Given the description of an element on the screen output the (x, y) to click on. 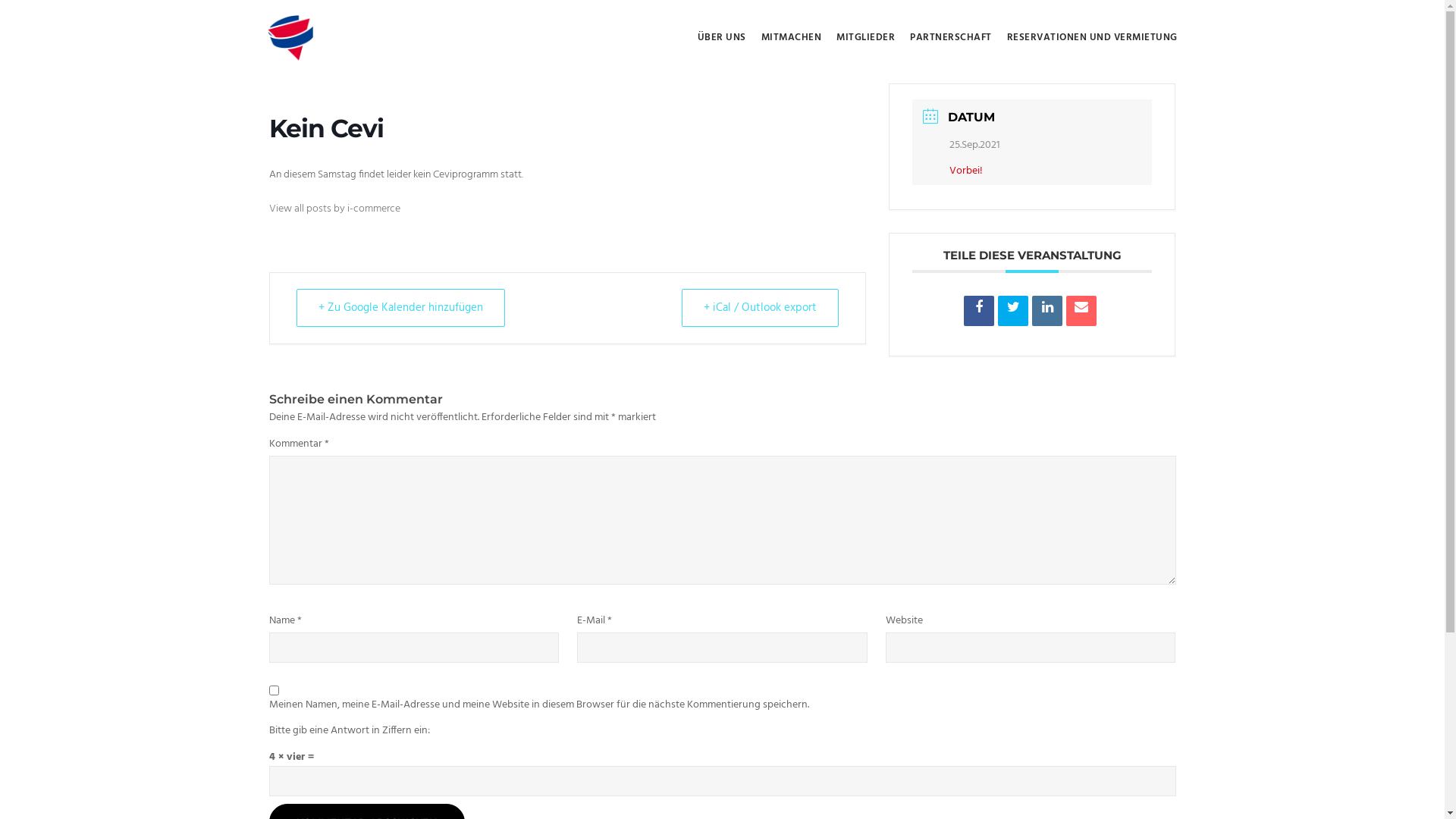
E-Mail Element type: hover (1081, 310)
View all posts by i-commerce Element type: text (333, 208)
PARTNERSCHAFT Element type: text (950, 37)
Auf Facebook teilen Element type: hover (978, 310)
LinkedIn Element type: hover (1047, 310)
+ iCal / Outlook export Element type: text (759, 307)
RESERVATIONEN UND VERMIETUNG Element type: text (1092, 37)
Tweet Element type: hover (1012, 310)
MITGLIEDER Element type: text (865, 37)
MITMACHEN Element type: text (791, 37)
